Given the description of an element on the screen output the (x, y) to click on. 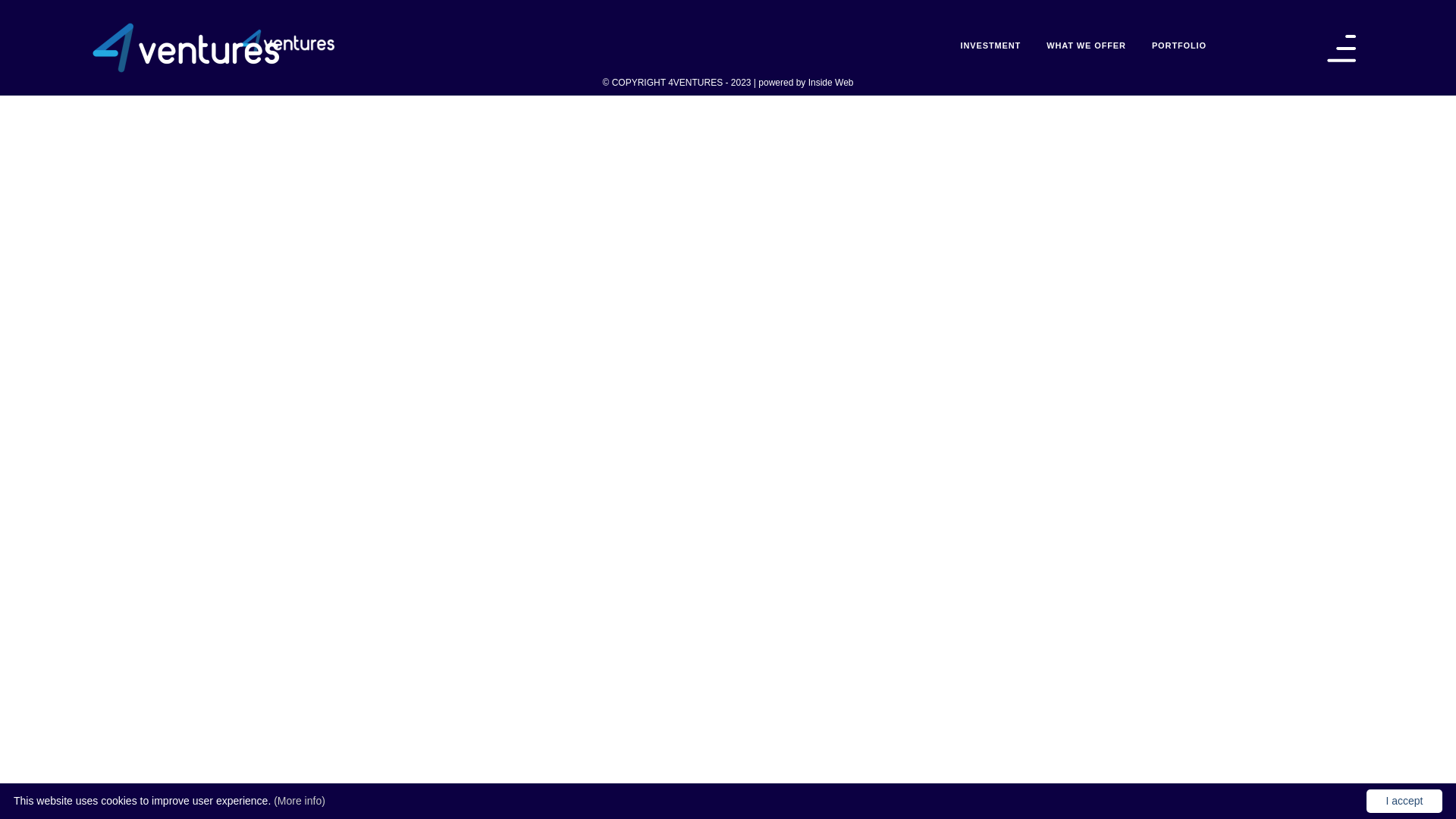
PORTFOLIO Element type: text (1179, 45)
INVESTMENT Element type: text (990, 45)
(More info) Element type: text (299, 801)
Inside Web Element type: text (830, 82)
WHAT WE OFFER Element type: text (1086, 45)
